Given the description of an element on the screen output the (x, y) to click on. 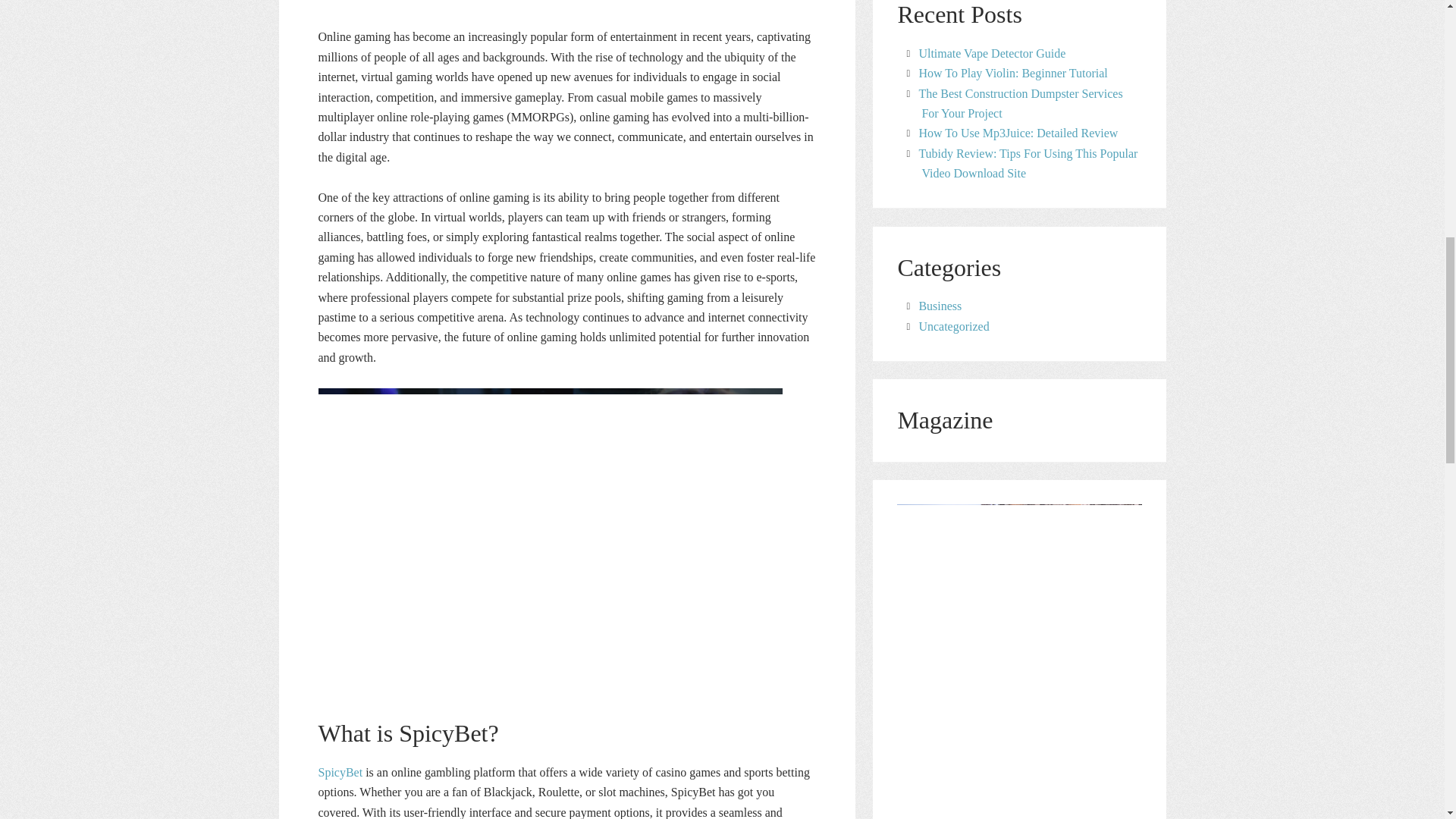
Ultimate Vape Detector Guide (991, 52)
Business (939, 305)
SpicyBet (340, 771)
Uncategorized (953, 326)
How To Play Violin: Beginner Tutorial (1012, 72)
How To Use Mp3Juice: Detailed Review (1018, 132)
The Best Construction Dumpster Services For Your Project (1020, 102)
